Given the description of an element on the screen output the (x, y) to click on. 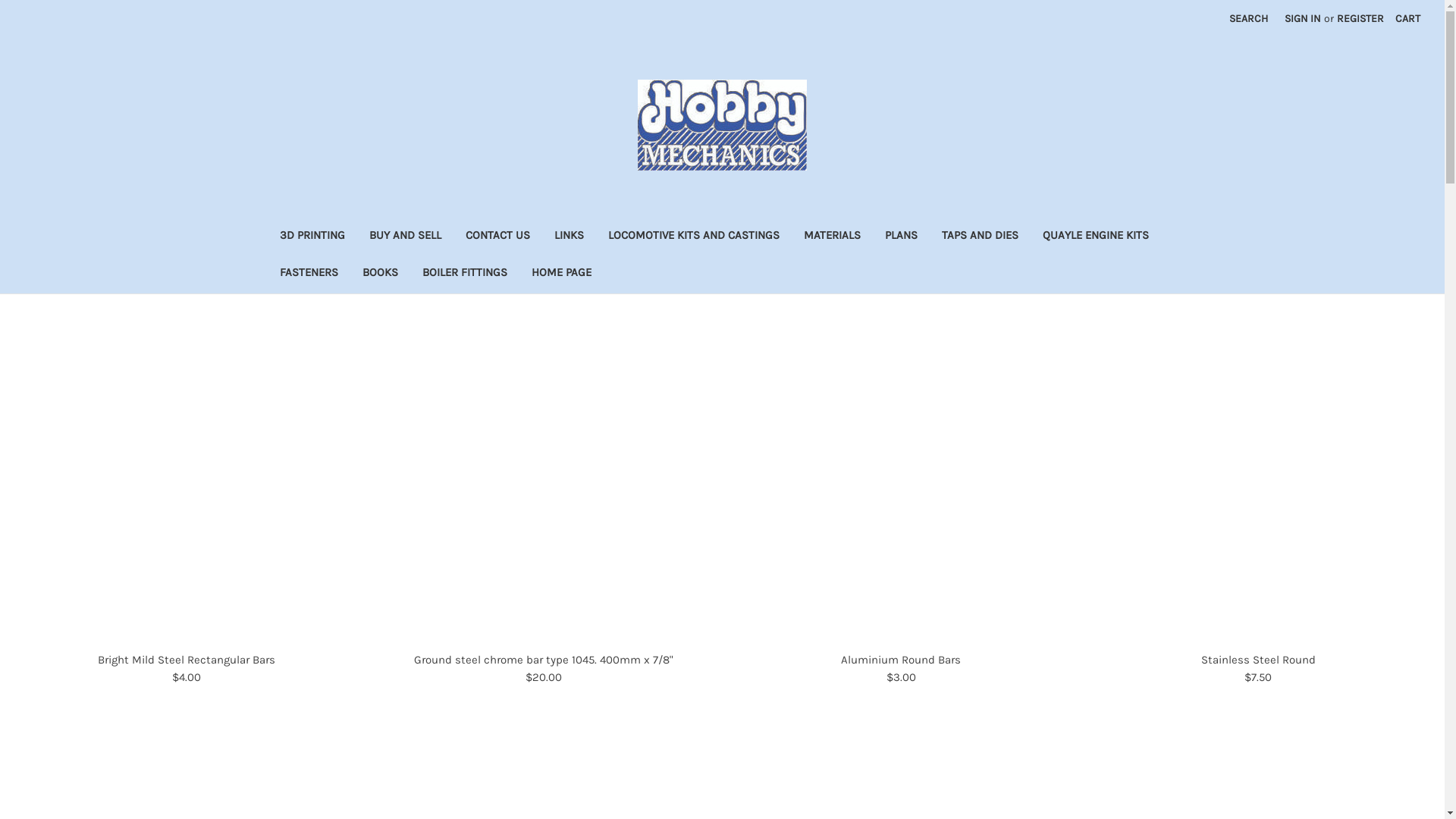
Hobby Mechanics Element type: hover (721, 124)
SEARCH Element type: text (1248, 18)
Stainless Steel Round Element type: text (1258, 659)
BOOKS Element type: text (380, 273)
CONTACT US Element type: text (497, 236)
MATERIALS Element type: text (831, 236)
LOCOMOTIVE KITS AND CASTINGS Element type: text (693, 236)
LINKS Element type: text (568, 236)
BOILER FITTINGS Element type: text (463, 273)
3D PRINTING Element type: text (311, 236)
Bright Mild Steel Rectangular Bars Element type: text (186, 659)
PLANS Element type: text (900, 236)
Aluminium Round Bars Element type: text (900, 659)
QUAYLE ENGINE KITS Element type: text (1094, 236)
SIGN IN Element type: text (1302, 18)
FASTENERS Element type: text (307, 273)
CART Element type: text (1407, 18)
Ground steel chrome bar type 1045. 400mm x 7/8" Element type: text (543, 659)
REGISTER Element type: text (1360, 18)
BUY AND SELL Element type: text (404, 236)
TAPS AND DIES Element type: text (979, 236)
HOME PAGE Element type: text (560, 273)
